Given the description of an element on the screen output the (x, y) to click on. 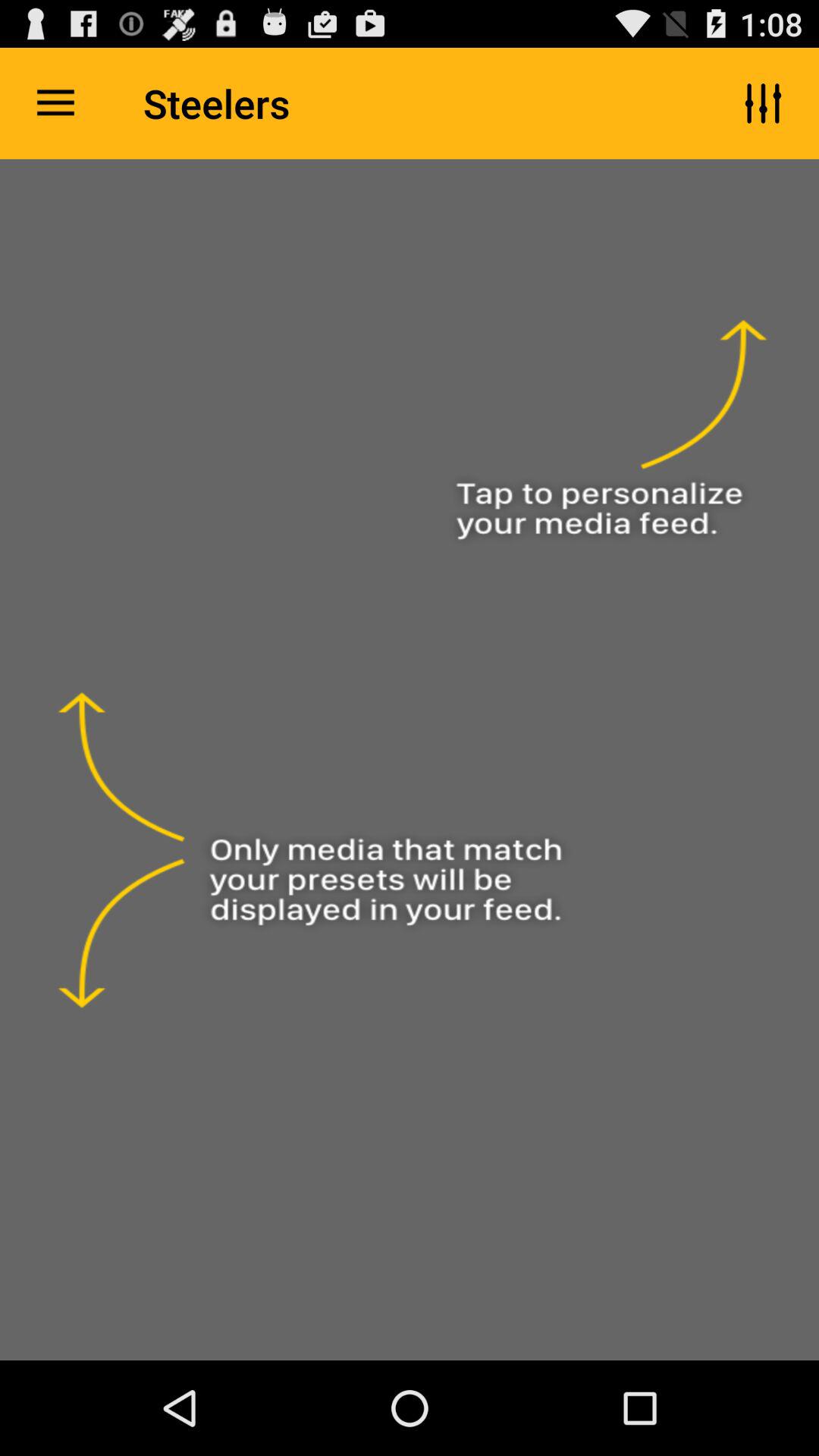
open icon to the left of steelers (55, 103)
